Given the description of an element on the screen output the (x, y) to click on. 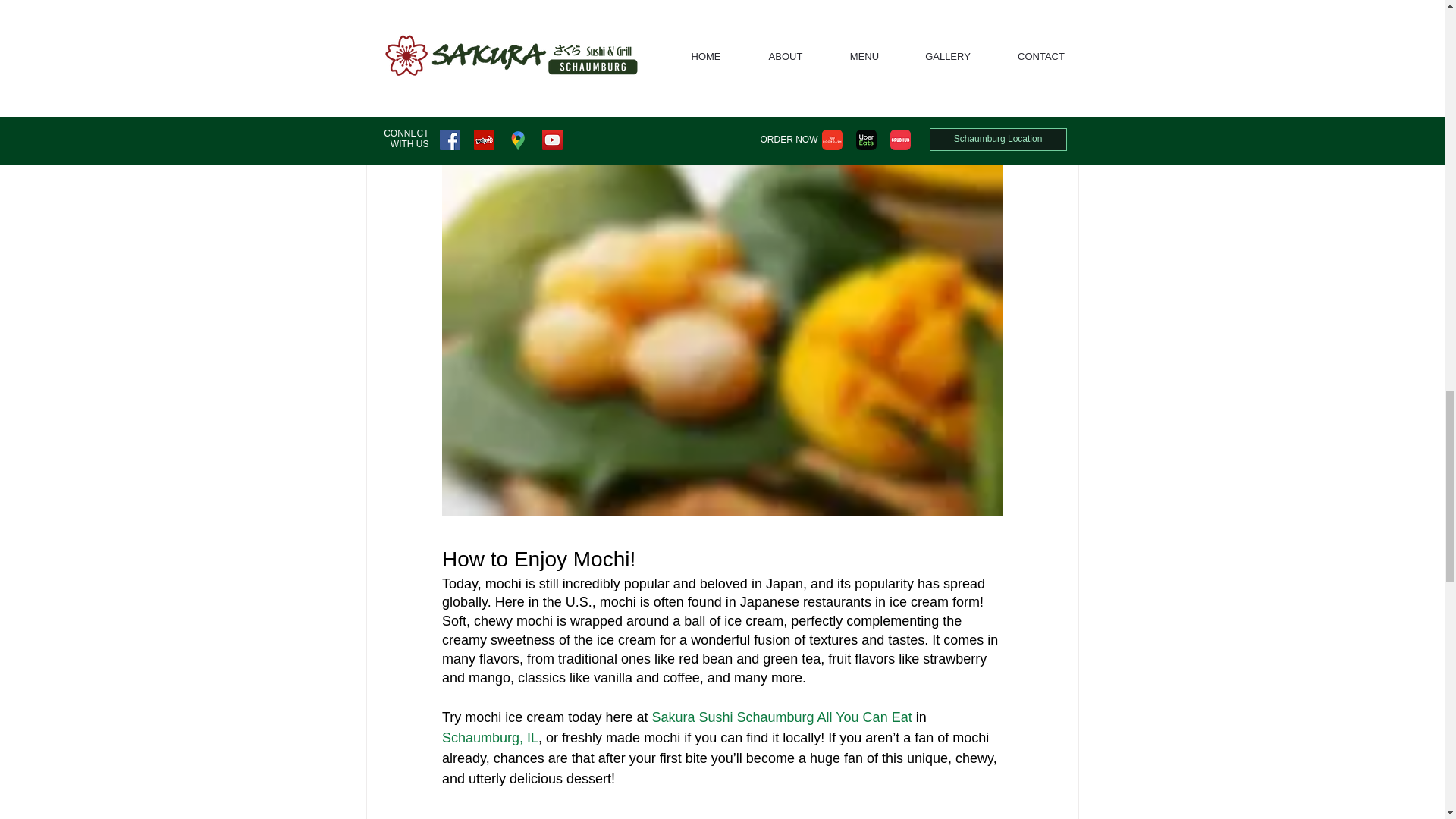
Sakura Sushi Schaumburg All You Can Eat (780, 717)
Schaumburg, IL (489, 738)
